Given the description of an element on the screen output the (x, y) to click on. 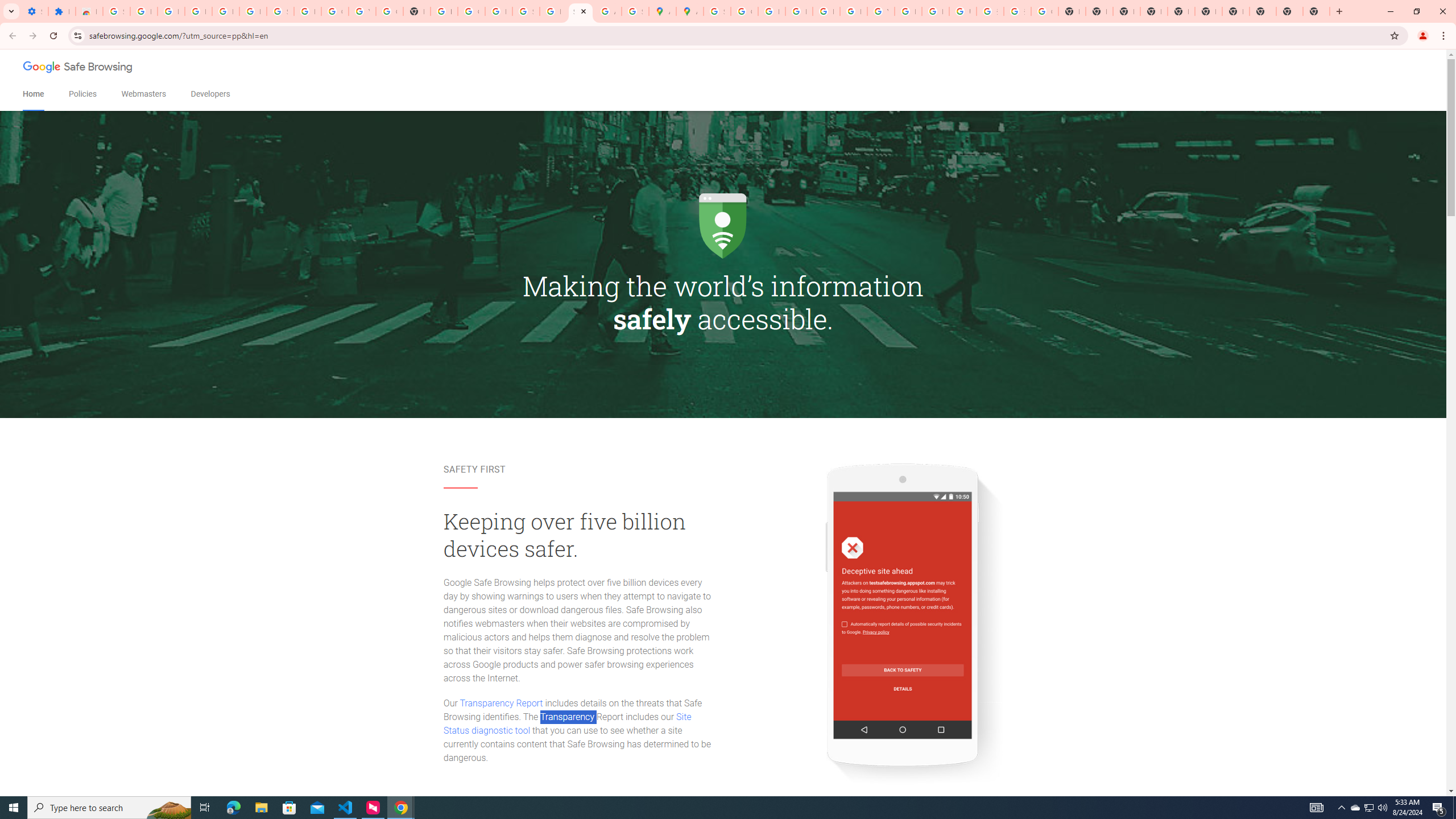
Sign in - Google Accounts (280, 11)
Privacy Help Center - Policies Help (799, 11)
Policies (82, 94)
New Tab (1316, 11)
Site Status diagnostic tool (566, 723)
